Given the description of an element on the screen output the (x, y) to click on. 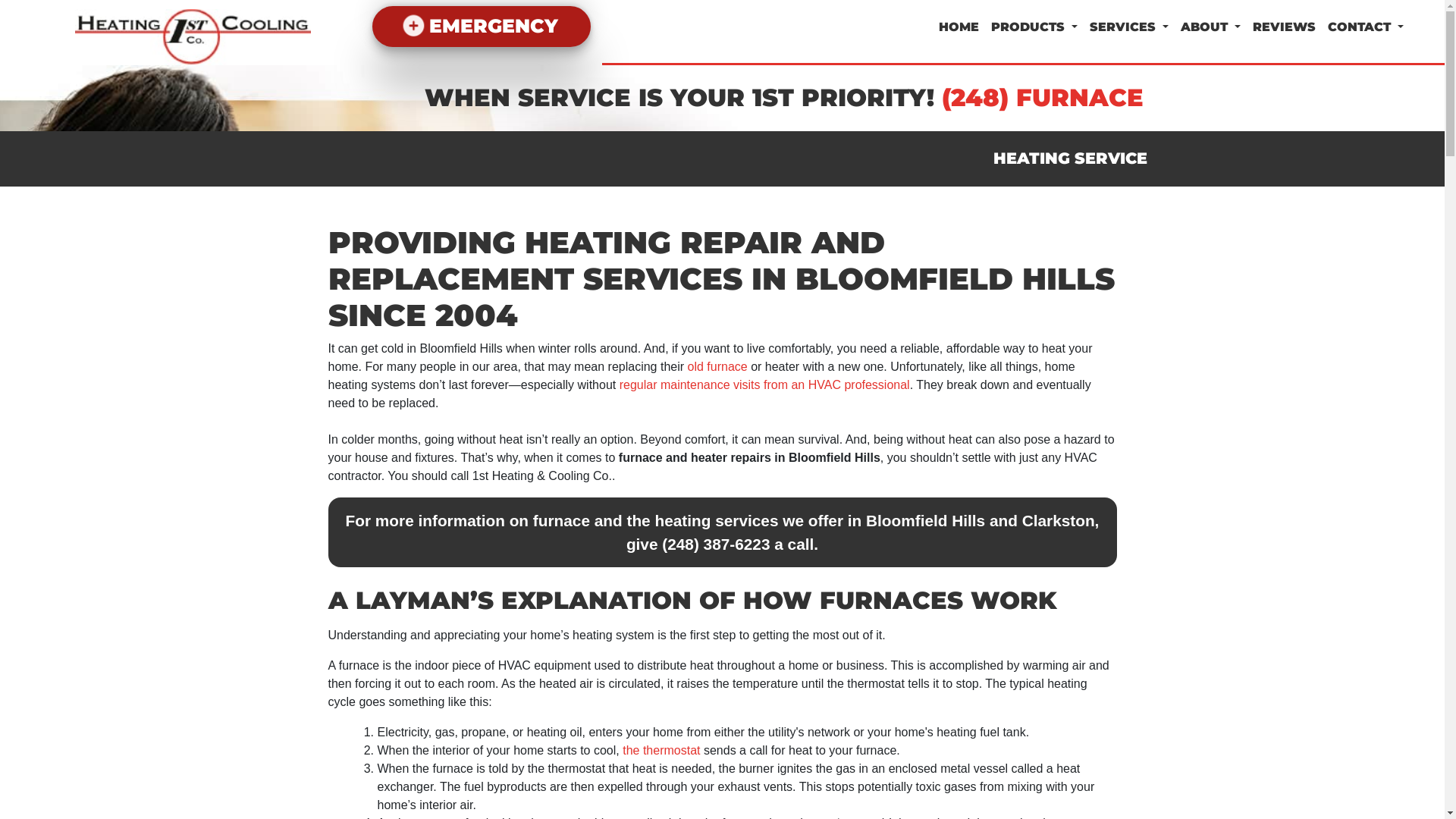
(248) FURNACE Element type: text (1042, 97)
SERVICES Element type: text (1128, 27)
PRODUCTS Element type: text (1034, 27)
HOME Element type: text (958, 27)
EMERGENCY Element type: text (480, 26)
the thermostat Element type: text (660, 749)
CONTACT Element type: text (1365, 27)
old furnace Element type: text (717, 366)
REVIEWS Element type: text (1283, 27)
regular maintenance visits from an HVAC professional Element type: text (764, 384)
ABOUT Element type: text (1210, 27)
